Given the description of an element on the screen output the (x, y) to click on. 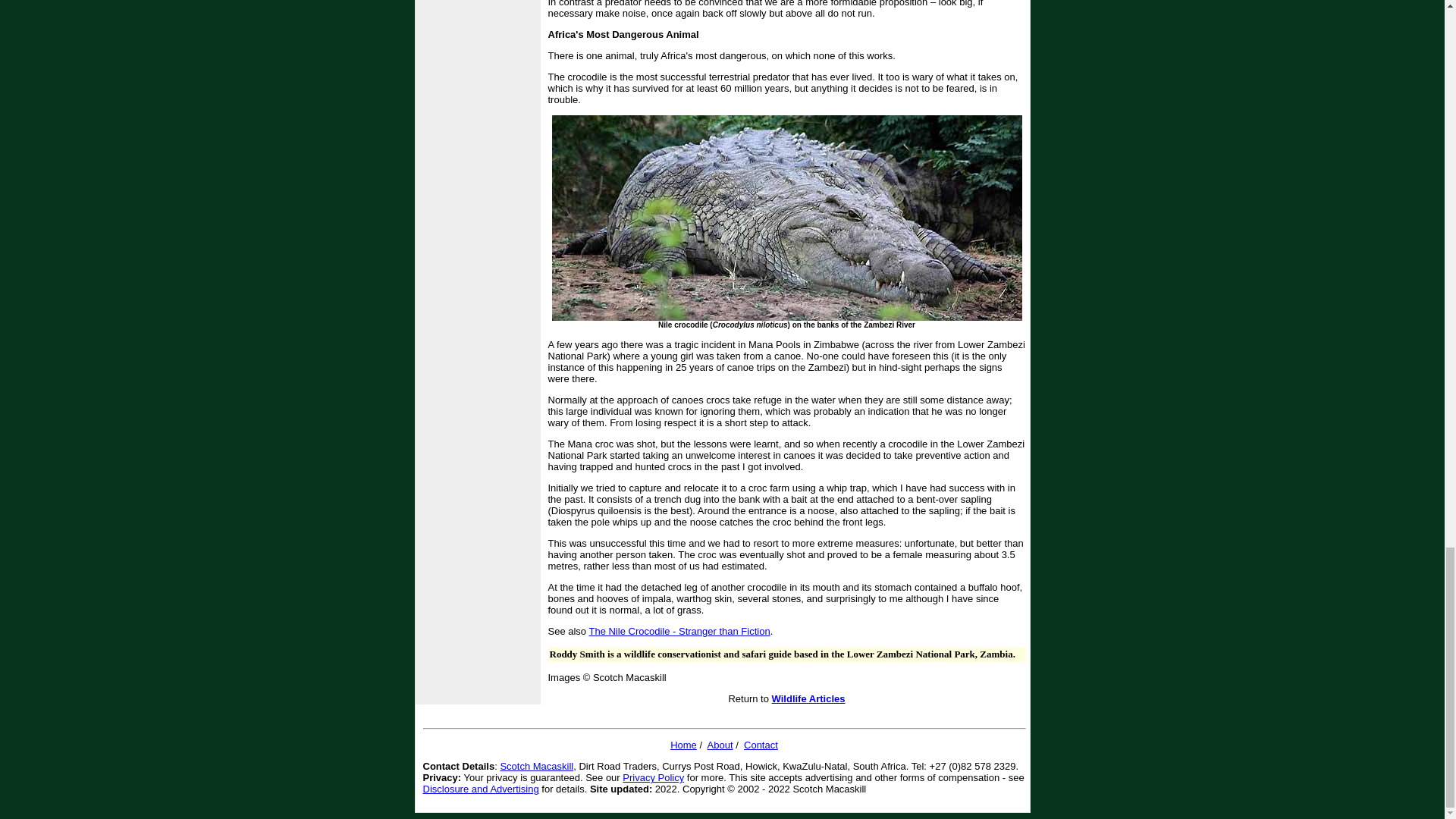
Privacy Policy (653, 777)
Scotch Macaskill (536, 766)
Disclosure and Advertising (480, 788)
The Nile Crocodile - Stranger than Fiction (679, 631)
Home (683, 745)
About (720, 745)
Wildlife Articles (808, 698)
Contact (760, 745)
